Given the description of an element on the screen output the (x, y) to click on. 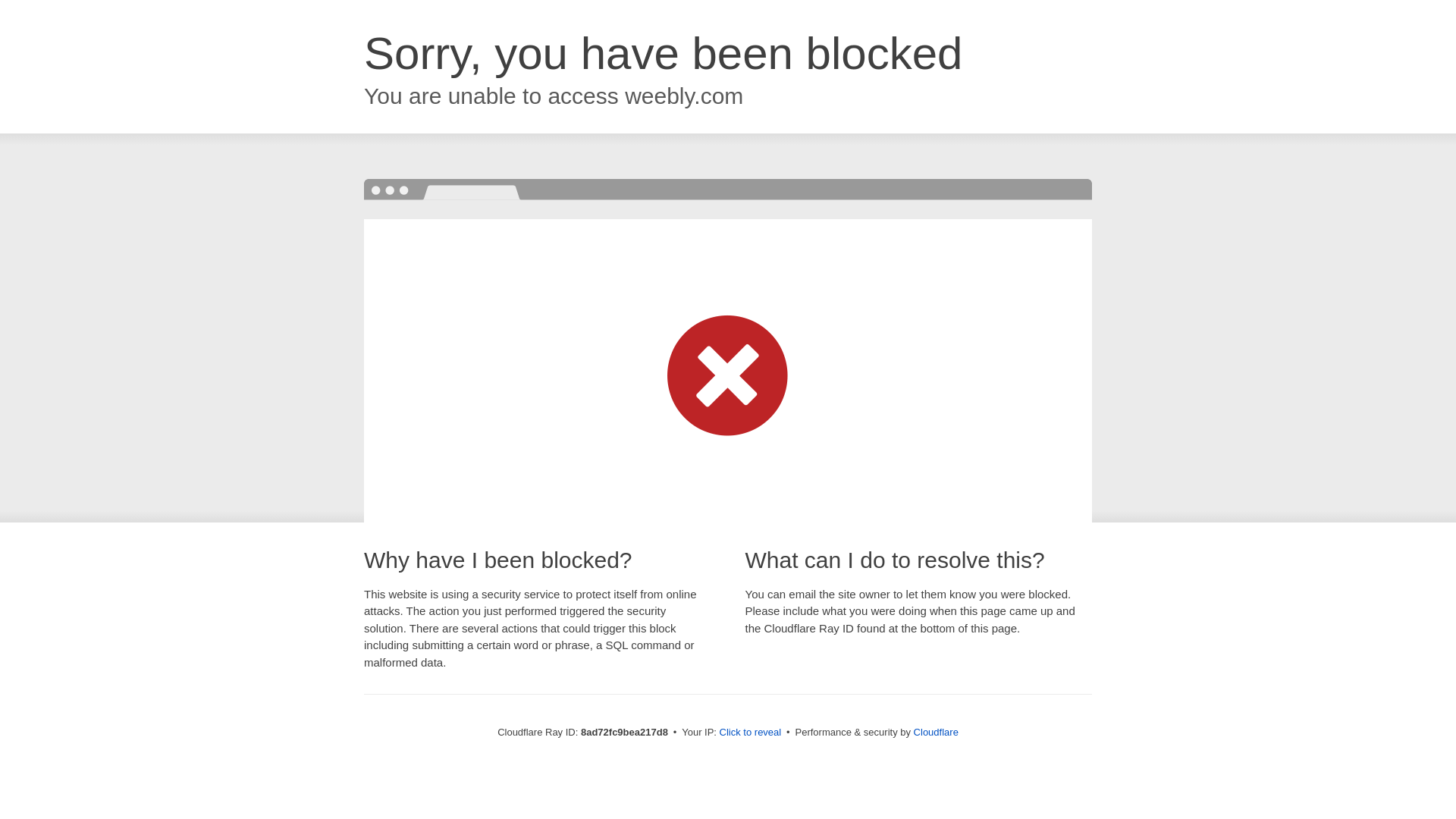
Click to reveal (750, 732)
Cloudflare (936, 731)
